Given the description of an element on the screen output the (x, y) to click on. 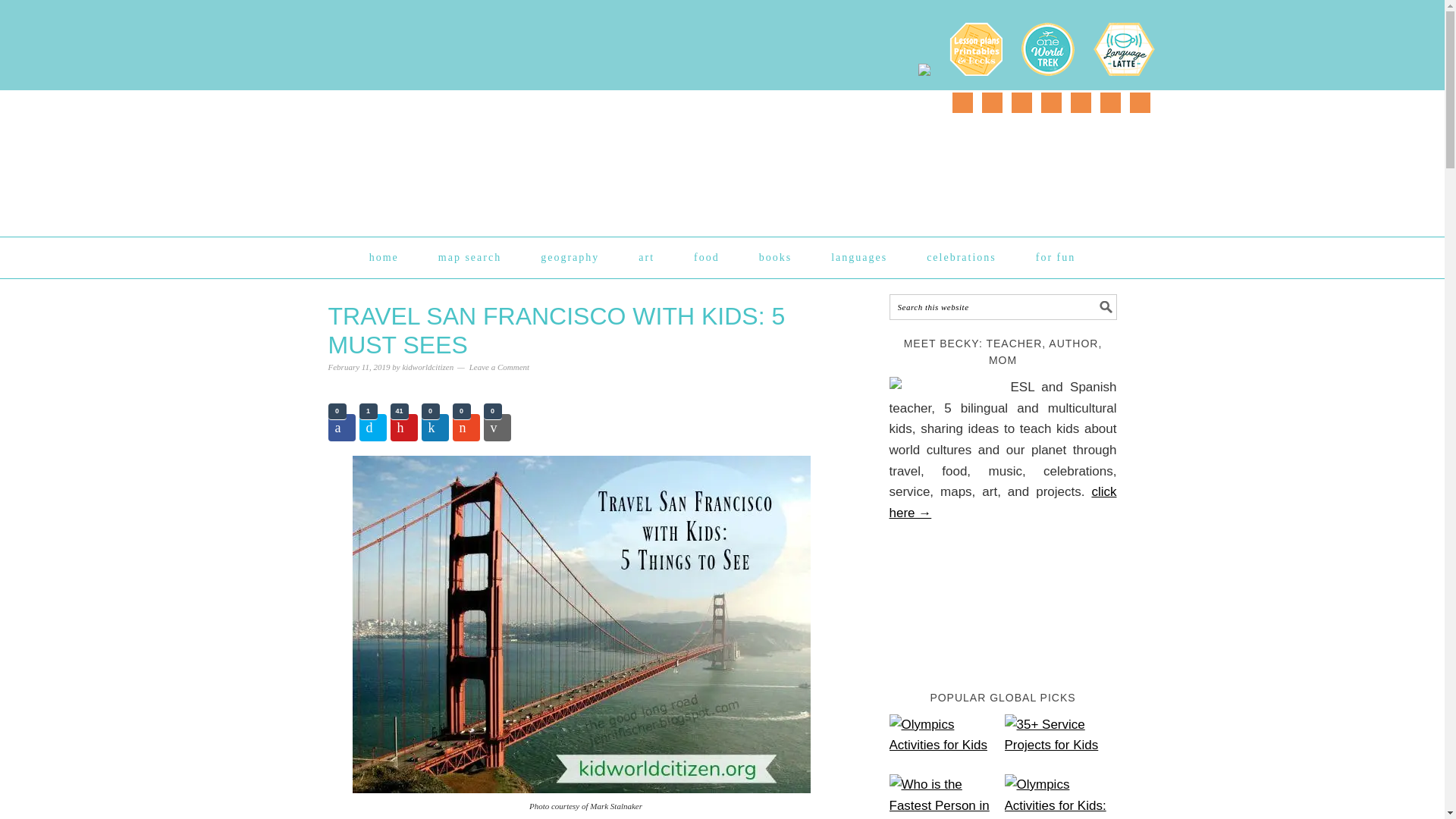
KID WORLD CITIZEN (483, 156)
map search (469, 256)
Leave a Comment (498, 366)
for fun (1055, 256)
kidworldcitizen (426, 366)
home (383, 256)
Who is the Fastest Person in the World? (944, 796)
Olympics Activities for Kids (944, 742)
art (646, 256)
food (706, 256)
books (774, 256)
celebrations (960, 256)
